Given the description of an element on the screen output the (x, y) to click on. 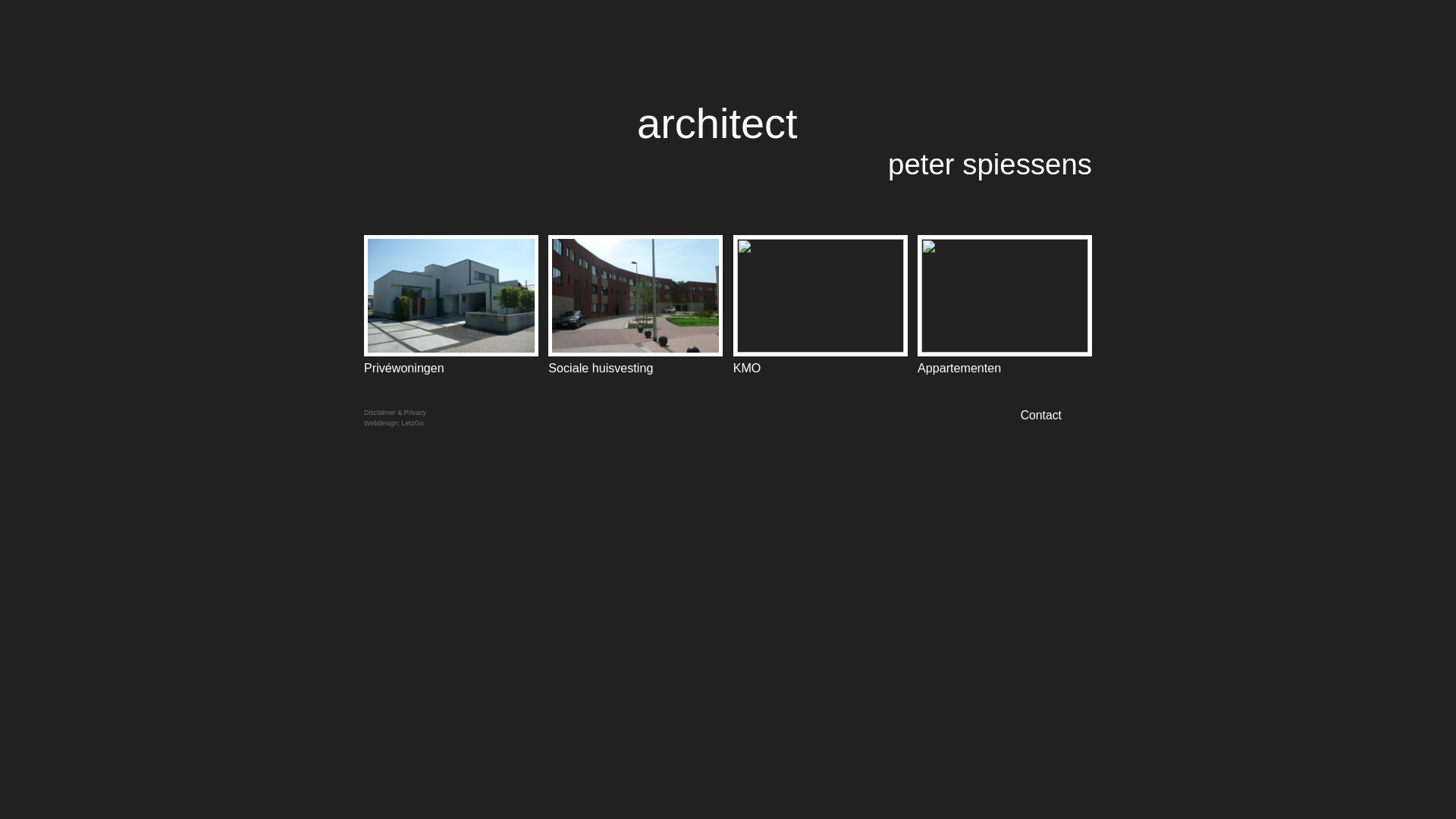
Webdesign: LetzGo Element type: text (393, 422)
Contact Element type: text (1056, 415)
architect
peter spiessens Element type: text (864, 139)
Disclaimer & Privacy Element type: text (395, 412)
